Given the description of an element on the screen output the (x, y) to click on. 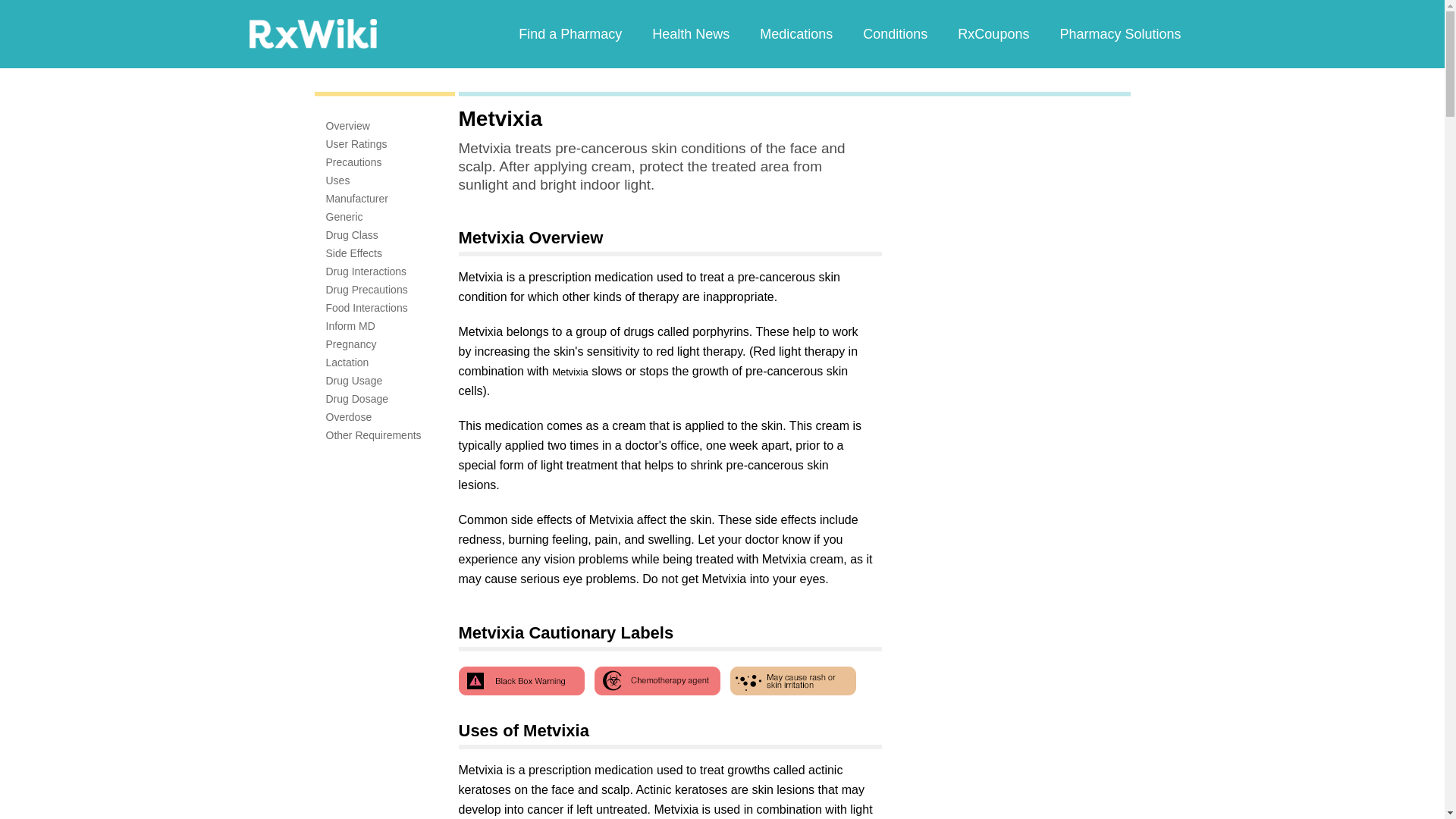
Drug Precautions (366, 289)
RxWiki (312, 32)
Drug Interactions (366, 271)
Precautions (353, 162)
Lactation (347, 362)
Other Requirements (374, 435)
Uses (338, 180)
Conditions (894, 33)
Drug Class (352, 234)
Drug Usage (354, 380)
Health News (690, 33)
Medications (795, 33)
Overview (347, 125)
Pregnancy (351, 344)
RxCoupons (992, 33)
